Given the description of an element on the screen output the (x, y) to click on. 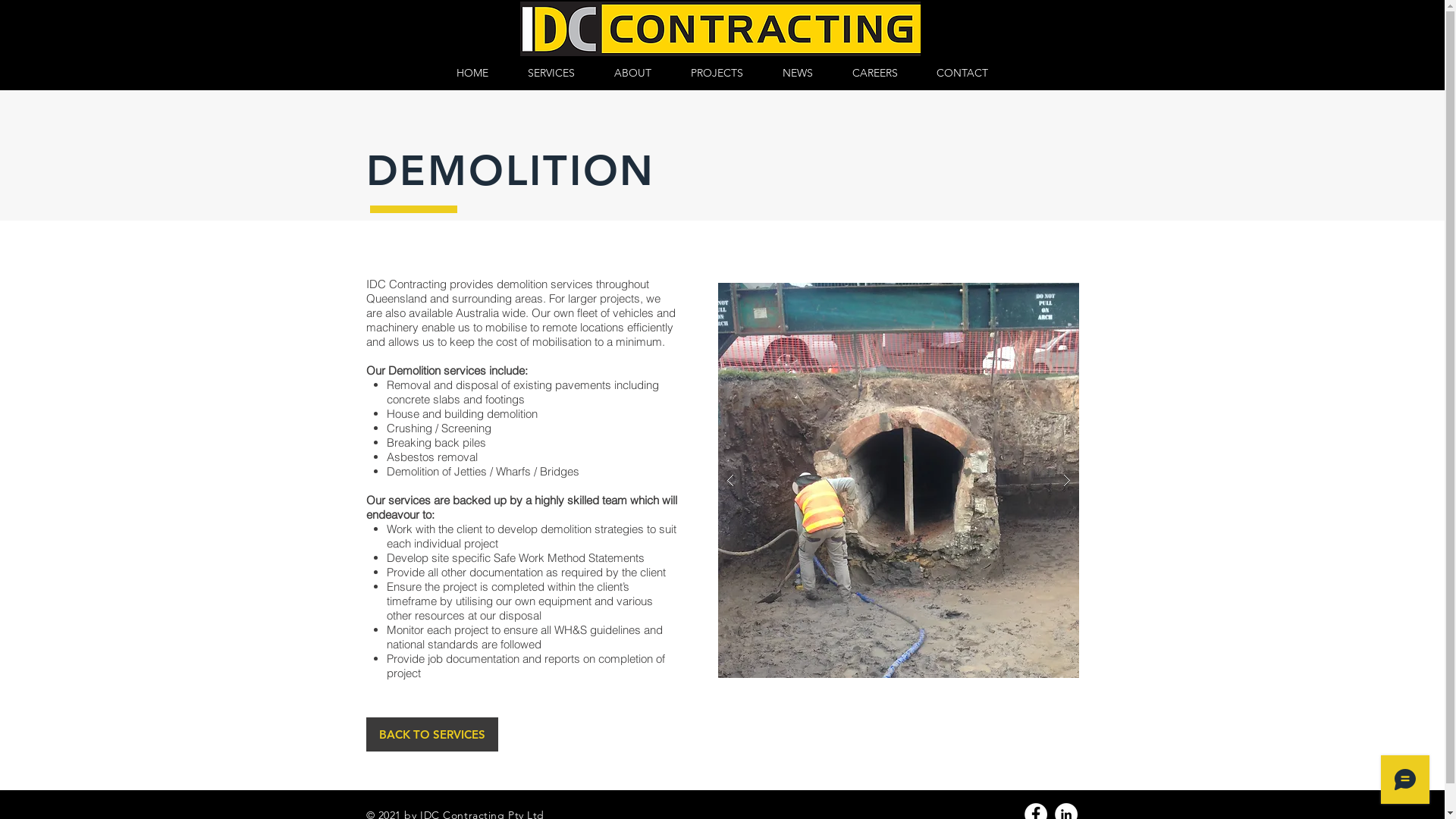
CAREERS Element type: text (874, 72)
NEWS Element type: text (797, 72)
SERVICES Element type: text (551, 72)
PROJECTS Element type: text (716, 72)
HOME Element type: text (472, 72)
CONTACT Element type: text (962, 72)
ABOUT Element type: text (632, 72)
BACK TO SERVICES Element type: text (431, 734)
